Given the description of an element on the screen output the (x, y) to click on. 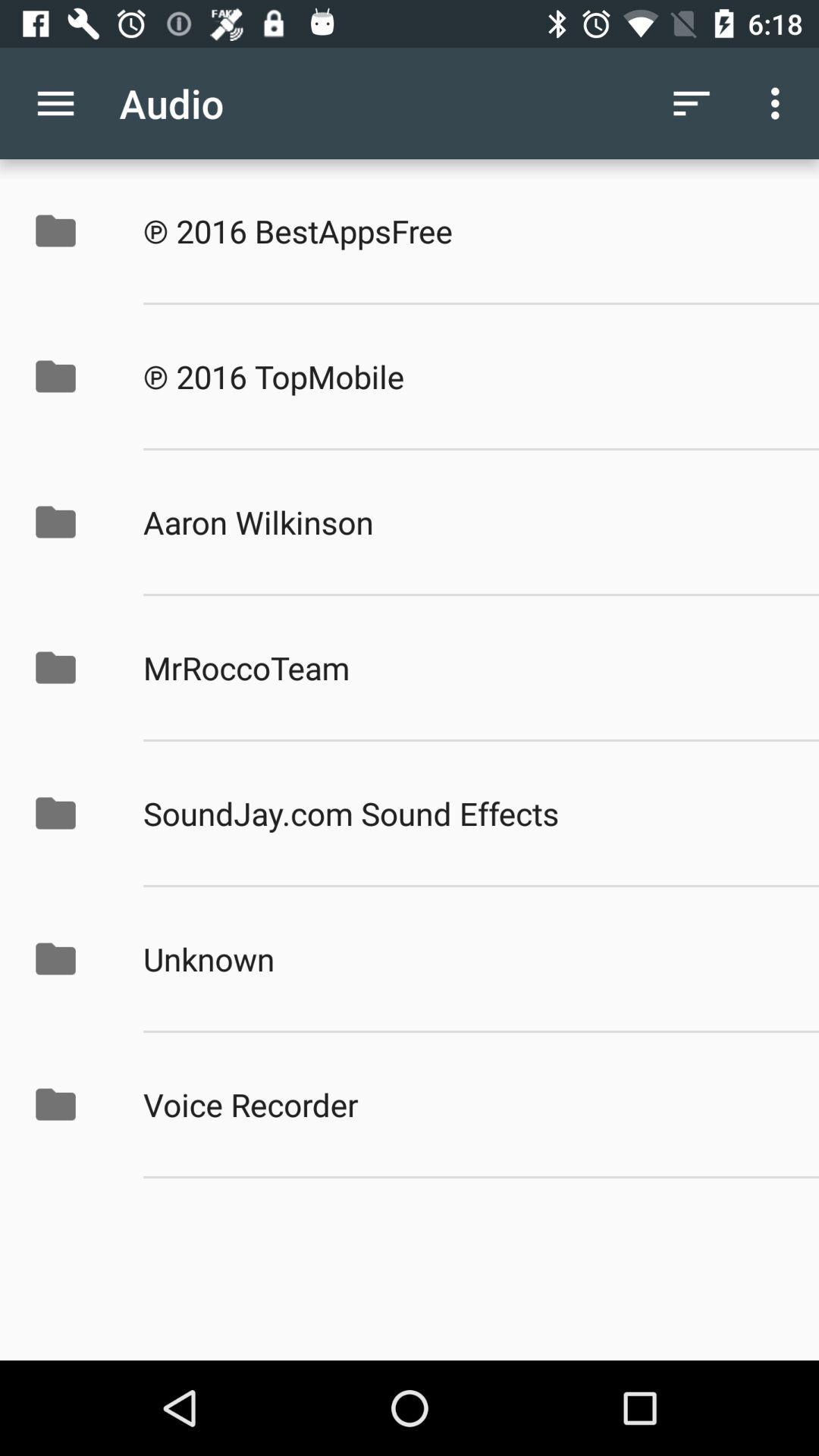
select mrroccoteam app (465, 667)
